Given the description of an element on the screen output the (x, y) to click on. 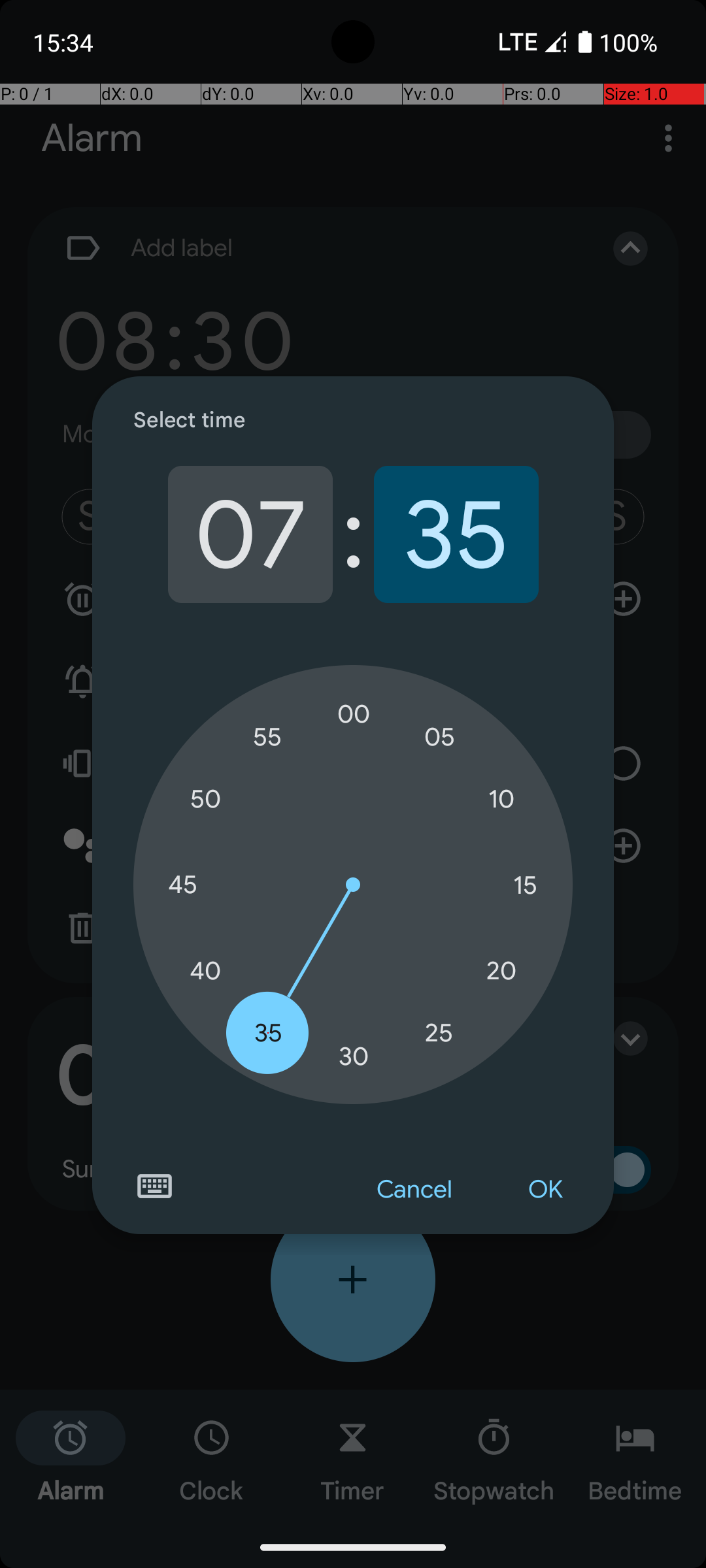
07 Element type: android.view.View (250, 534)
